Given the description of an element on the screen output the (x, y) to click on. 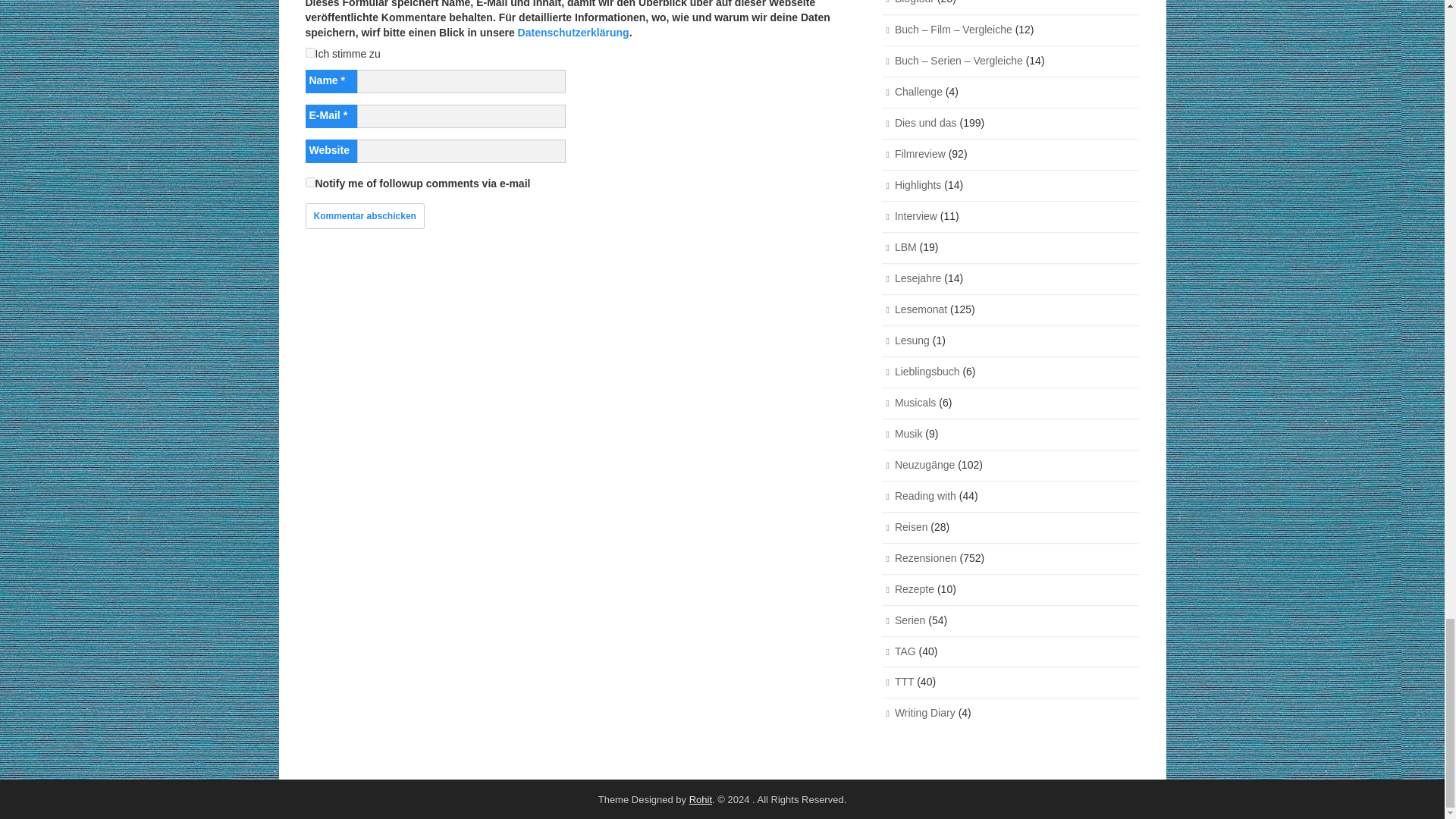
on (309, 52)
subscribe (309, 182)
Kommentar abschicken (363, 216)
